Given the description of an element on the screen output the (x, y) to click on. 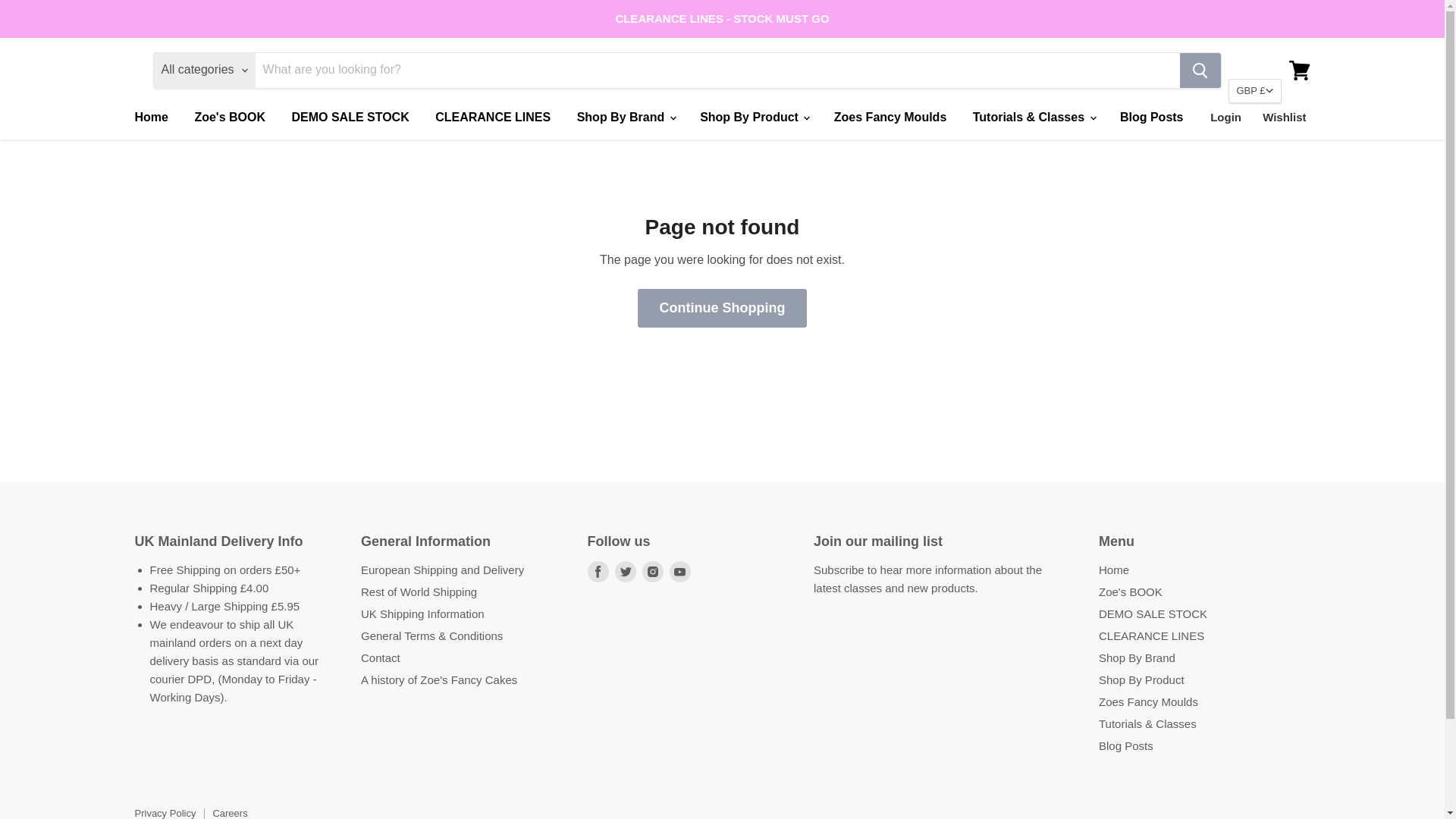
Twitter (624, 571)
Instagram (652, 571)
Youtube (679, 571)
Facebook (597, 571)
